Given the description of an element on the screen output the (x, y) to click on. 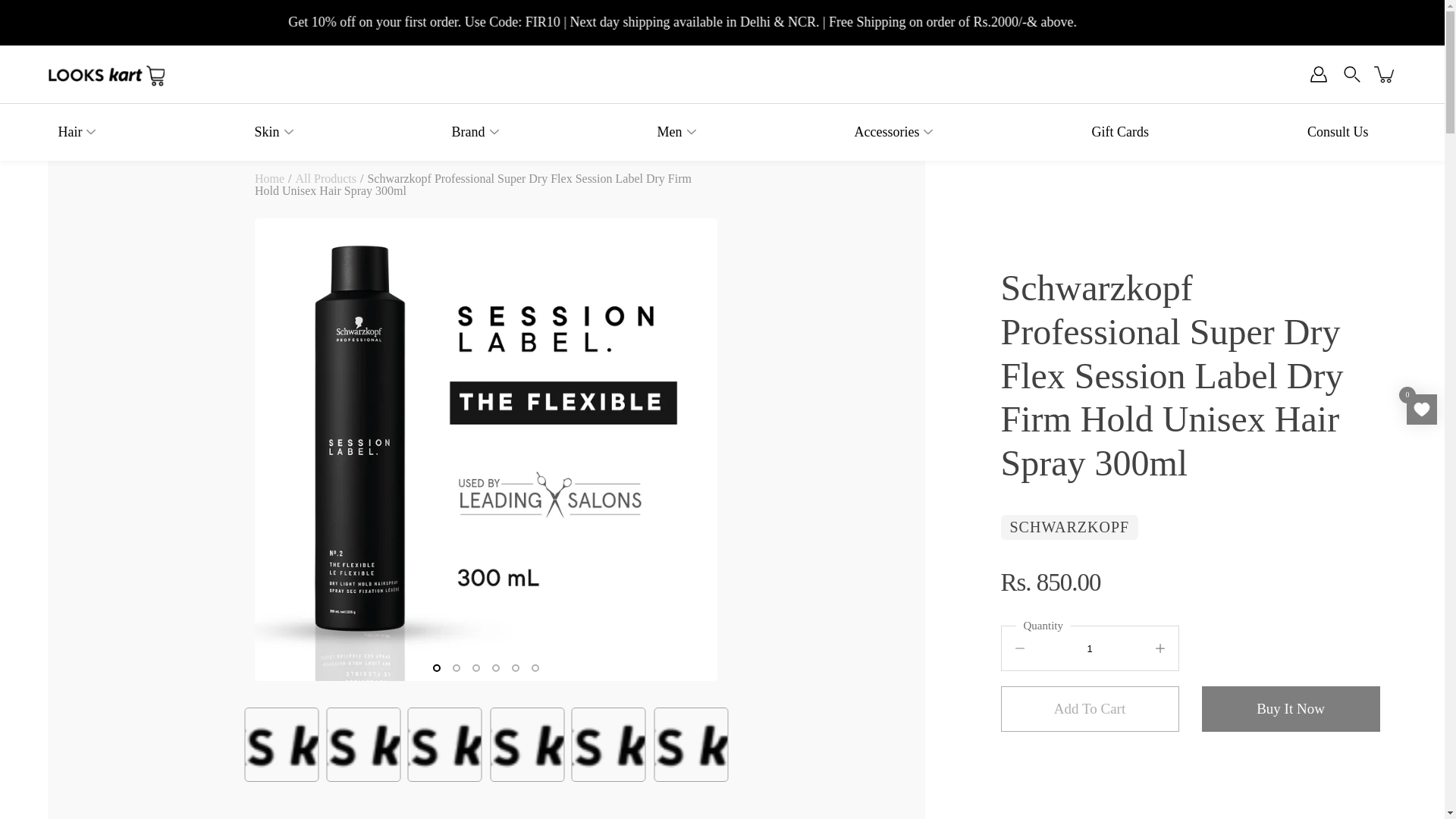
1 (1090, 647)
Skin (266, 131)
Back to the Homepage (268, 178)
Hair (69, 131)
